Given the description of an element on the screen output the (x, y) to click on. 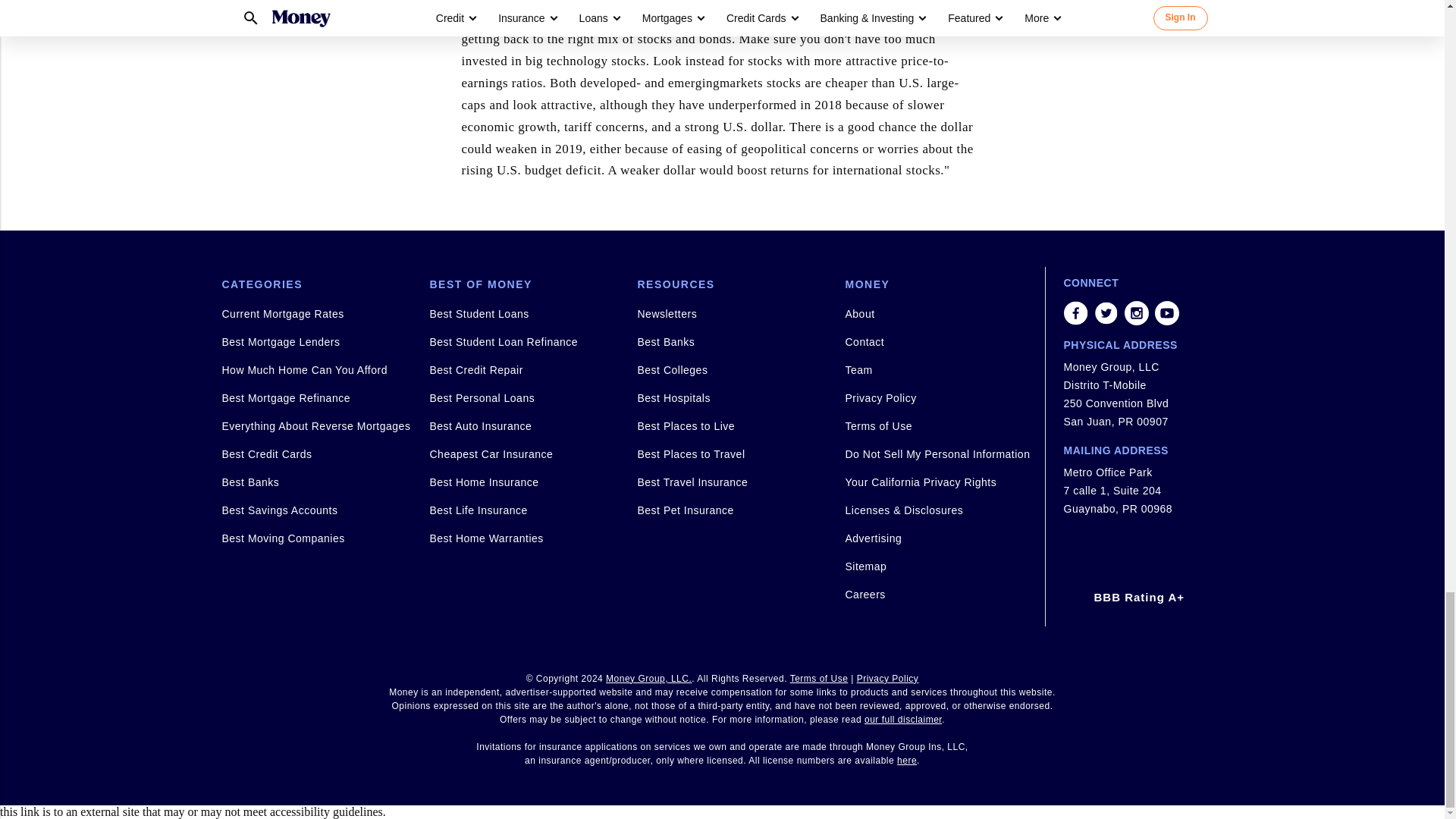
youtube share (1165, 313)
instagram share (1136, 313)
facebook share (1074, 313)
twitter share (1105, 313)
